Given the description of an element on the screen output the (x, y) to click on. 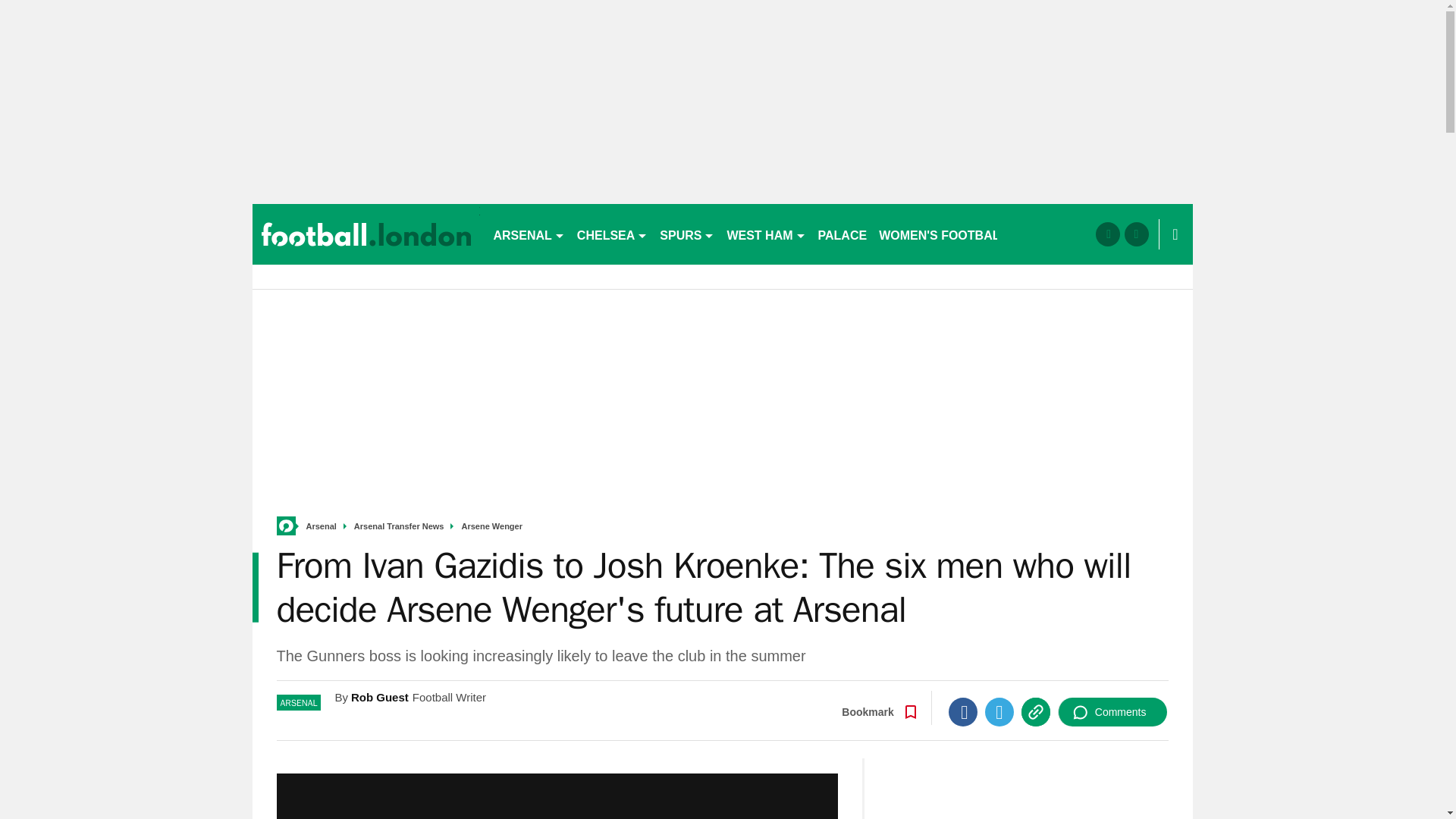
footballlondon (365, 233)
Facebook (962, 711)
facebook (1106, 233)
PALACE (842, 233)
Comments (1112, 711)
Twitter (999, 711)
SPURS (686, 233)
twitter (1136, 233)
WOMEN'S FOOTBALL (942, 233)
WEST HAM (765, 233)
CHELSEA (611, 233)
ARSENAL (528, 233)
